Given the description of an element on the screen output the (x, y) to click on. 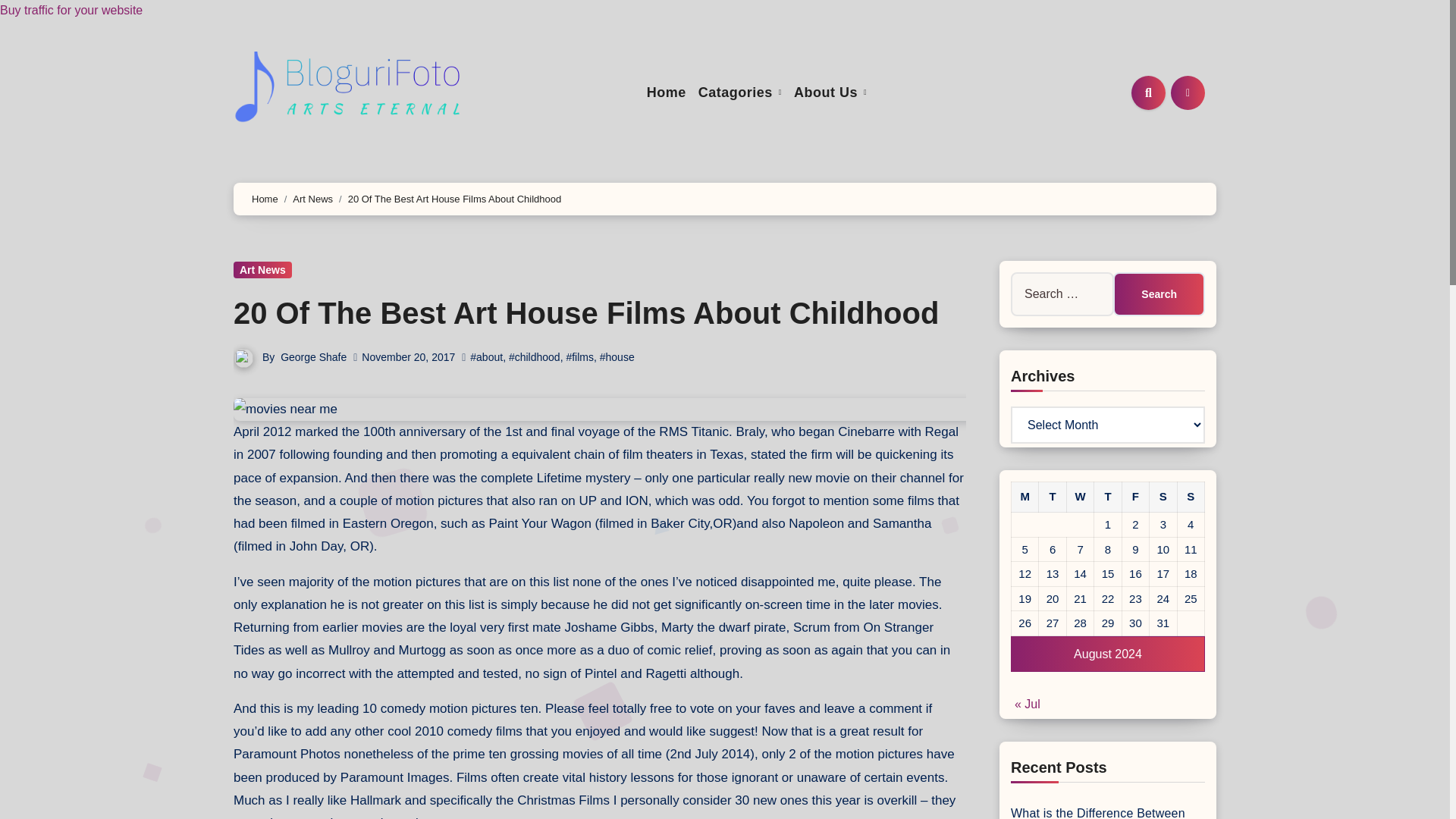
November 20, 2017 (407, 357)
George Shafe (313, 357)
Buy traffic for your website (71, 10)
Catagories (740, 92)
Search (1159, 293)
Art News (262, 269)
Home (666, 92)
Art News (312, 198)
Home (264, 198)
About Us (829, 92)
